Given the description of an element on the screen output the (x, y) to click on. 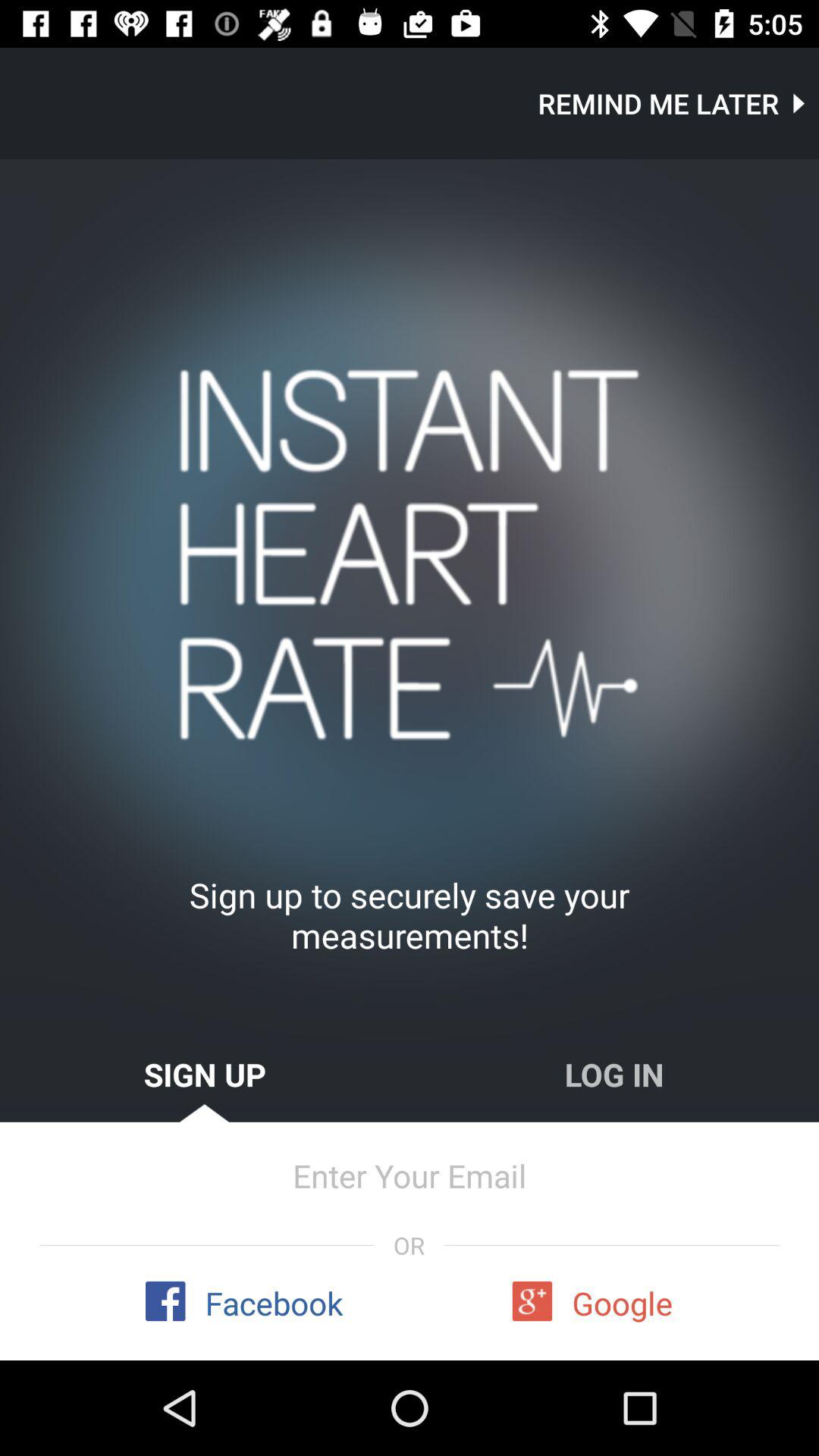
open item above or icon (409, 1175)
